Given the description of an element on the screen output the (x, y) to click on. 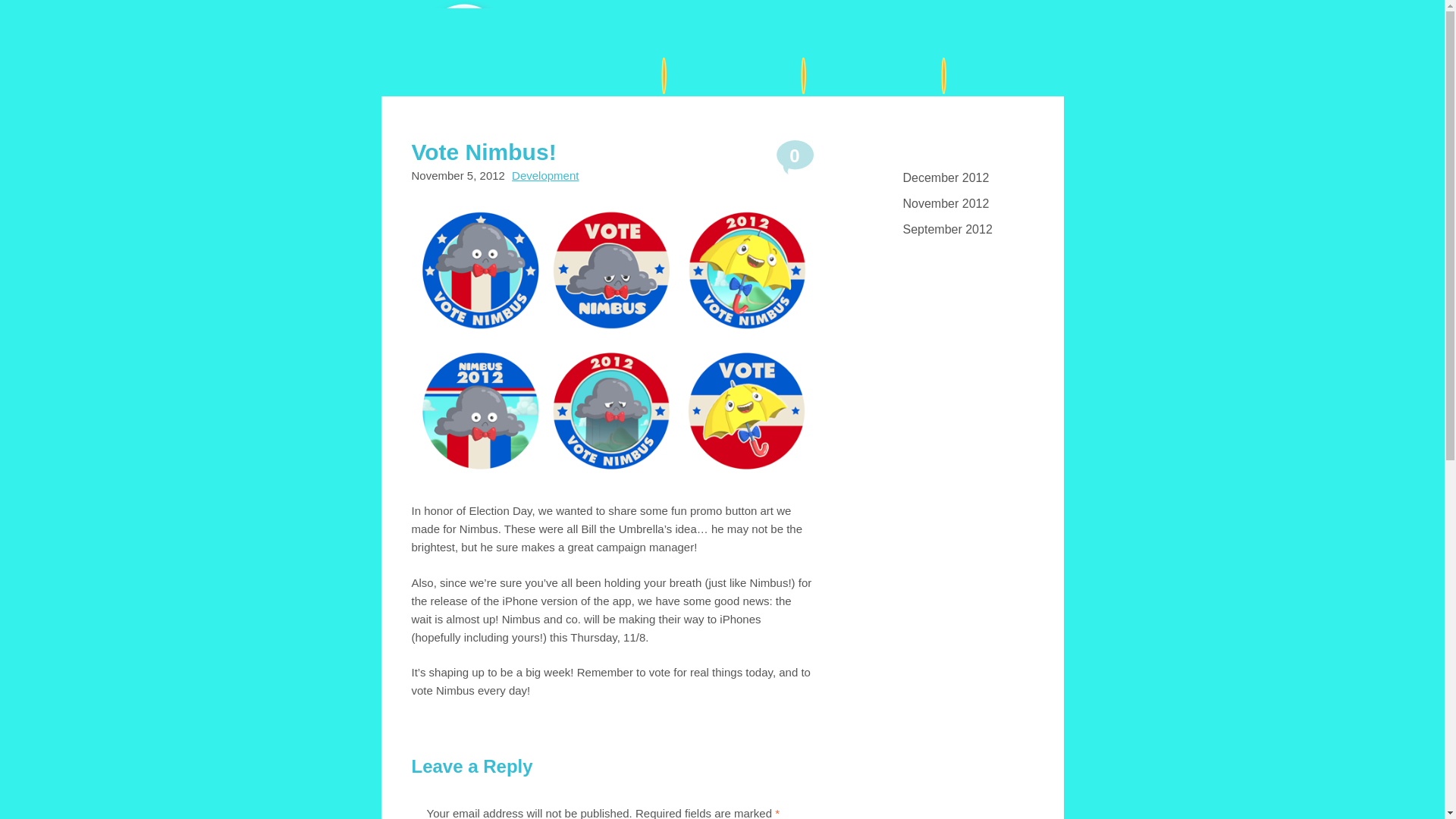
0 (794, 158)
September 2012 (960, 230)
Negative Nimbus (479, 65)
December 2012 (960, 178)
About (729, 75)
Blog (1002, 75)
November 2012 (960, 204)
Negative Nimbus (479, 65)
World (870, 75)
Development (545, 174)
